Given the description of an element on the screen output the (x, y) to click on. 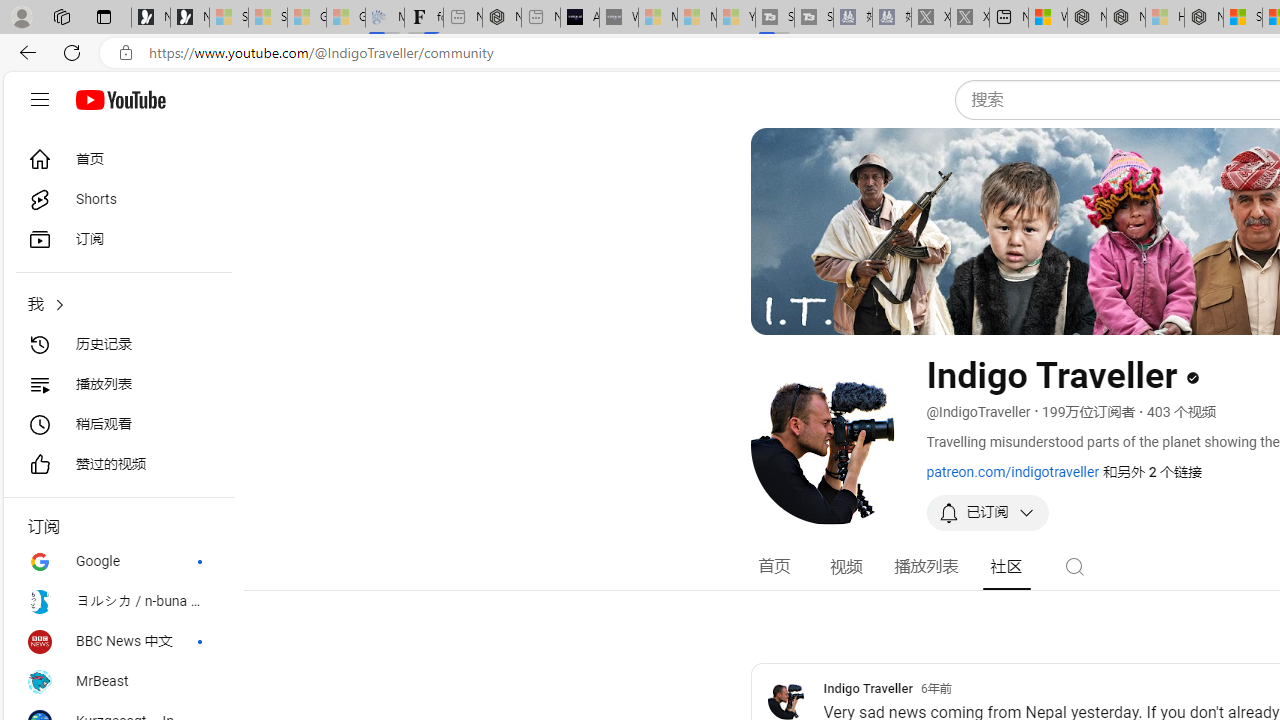
Nordace - Nordace Siena Is Not An Ordinary Backpack (1203, 17)
Microsoft Start Sports - Sleeping (657, 17)
What's the best AI voice generator? - voice.ai - Sleeping (618, 17)
Indigo Traveller (786, 699)
